Given the description of an element on the screen output the (x, y) to click on. 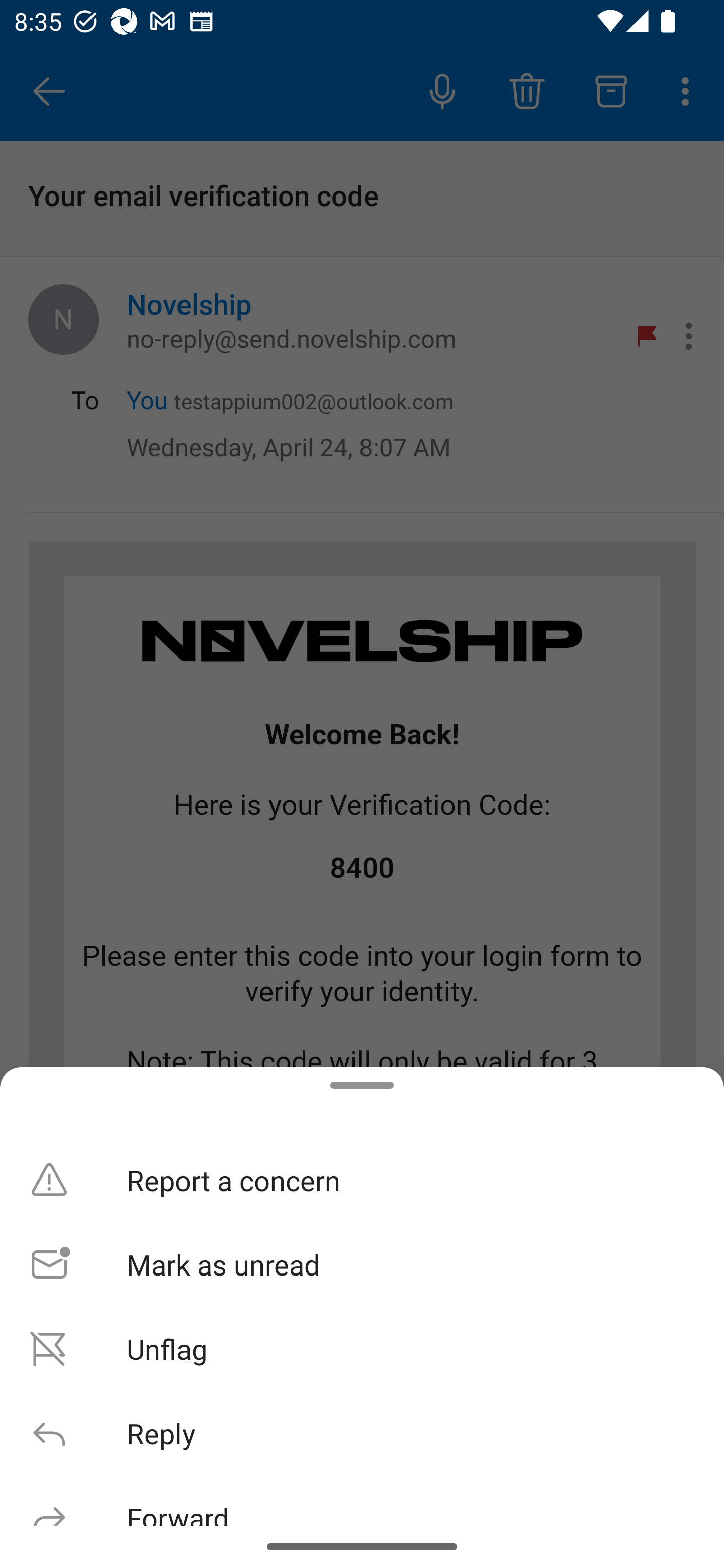
Report a concern (362, 1179)
Mark as unread (362, 1263)
Unflag (362, 1348)
Reply (362, 1432)
Forward (362, 1500)
